Given the description of an element on the screen output the (x, y) to click on. 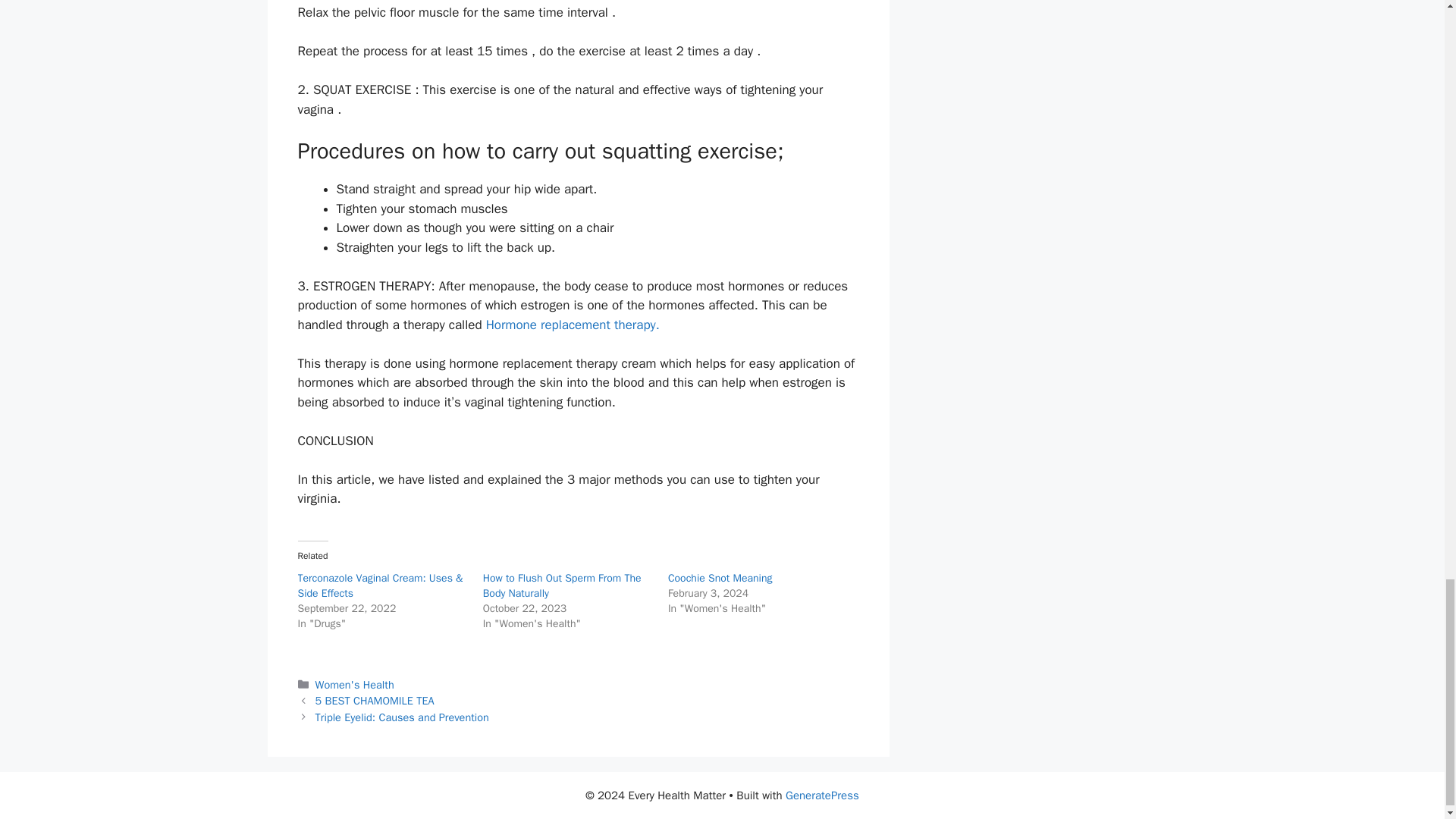
Triple Eyelid: Causes and Prevention (402, 716)
Coochie Snot Meaning (720, 577)
GeneratePress (822, 795)
Women's Health (354, 684)
5 BEST CHAMOMILE TEA (374, 700)
How to Flush Out Sperm From The Body Naturally (562, 585)
How to Flush Out Sperm From The Body Naturally (562, 585)
Hormone replacement therapy. (572, 324)
Coochie Snot Meaning (720, 577)
